Given the description of an element on the screen output the (x, y) to click on. 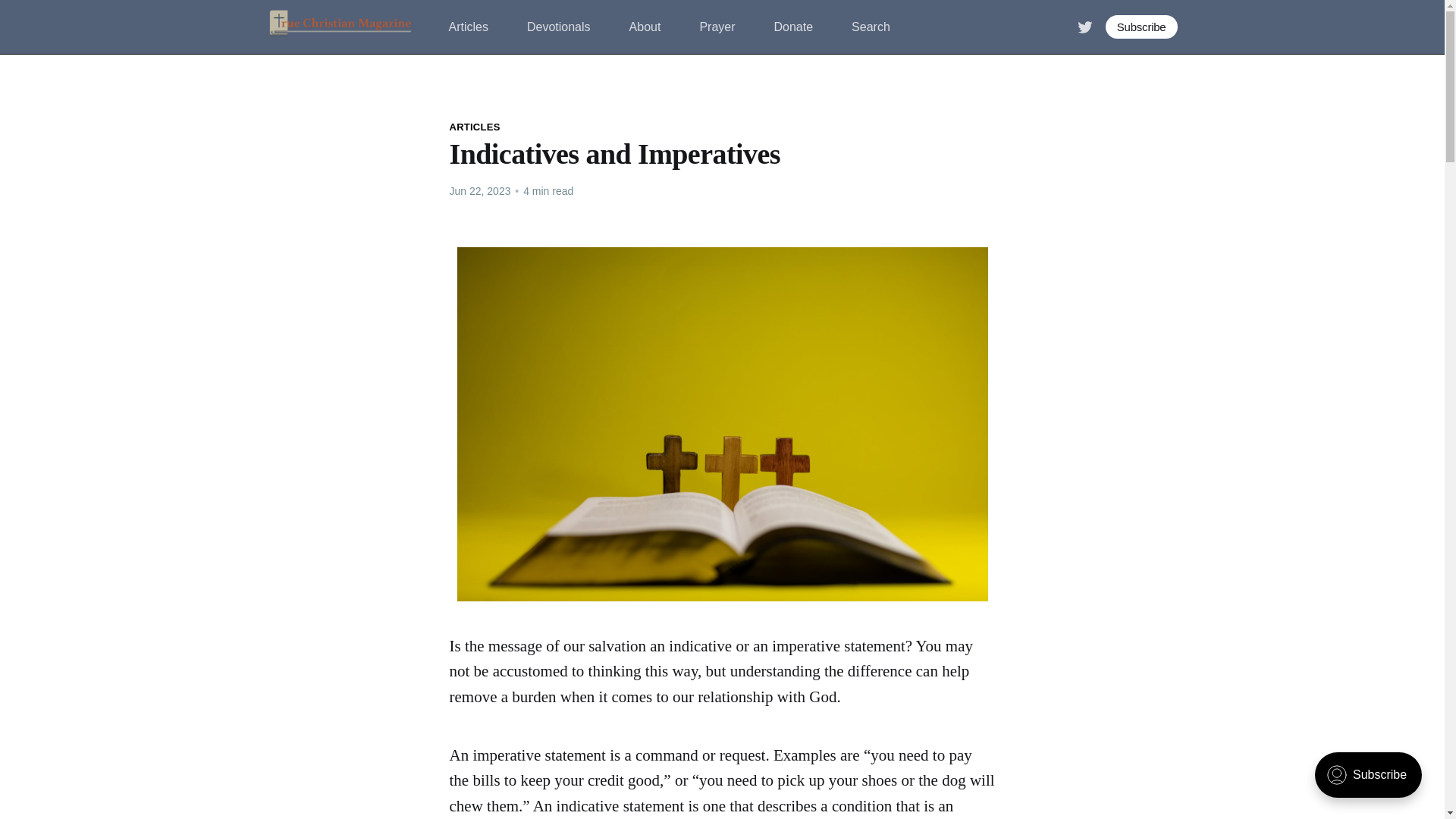
Search (870, 26)
Twitter (1085, 25)
Subscribe (1141, 26)
Prayer (716, 26)
ARTICLES (473, 127)
Donate (792, 26)
Articles (467, 26)
About (644, 26)
Devotionals (559, 26)
